Given the description of an element on the screen output the (x, y) to click on. 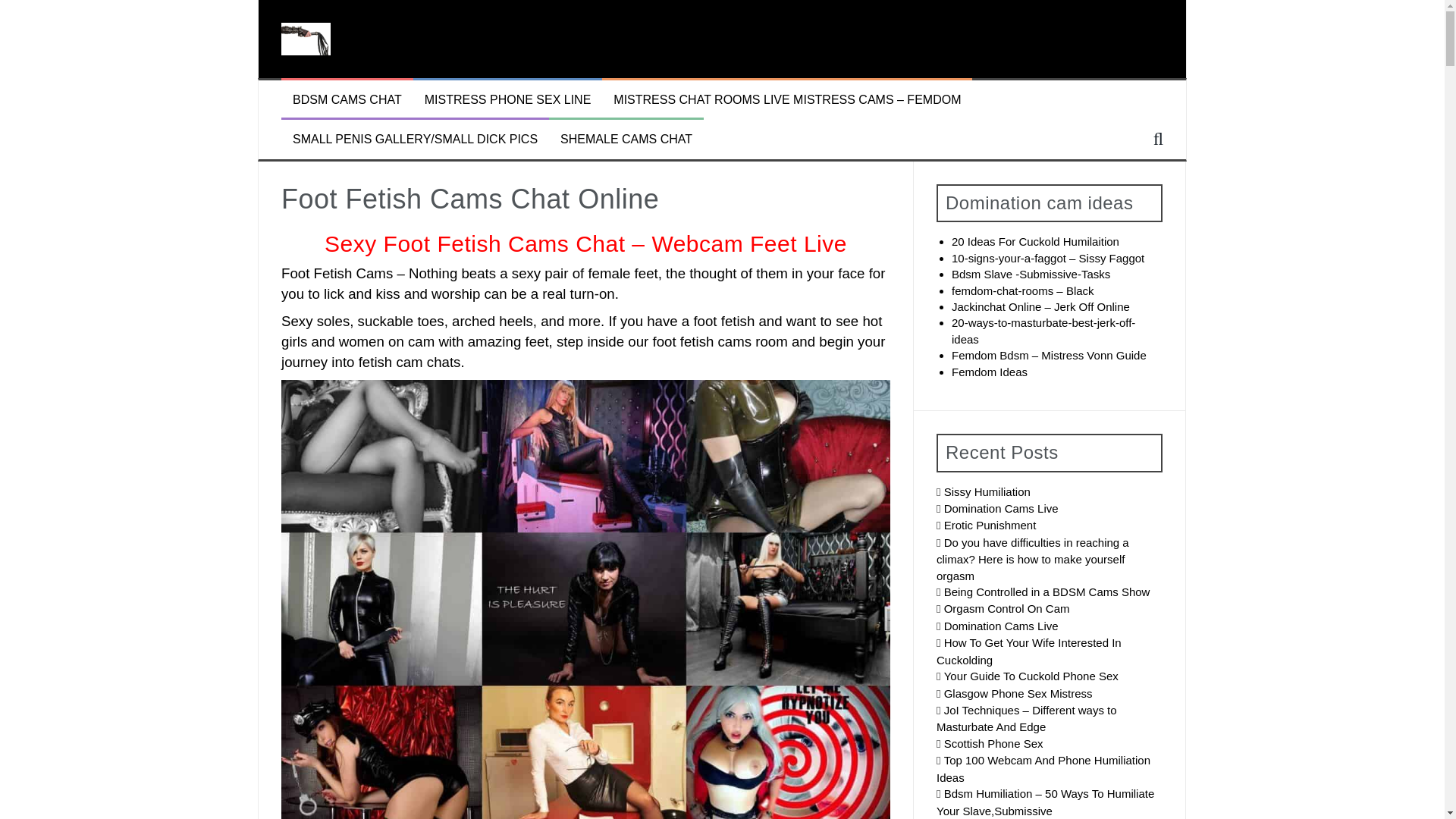
fetish cam chats (409, 361)
Live Bdsm Cams.Net (305, 38)
SHEMALE CAMS CHAT (626, 139)
BDSM CAMS CHAT (346, 99)
MISTRESS PHONE SEX LINE (508, 99)
